Given the description of an element on the screen output the (x, y) to click on. 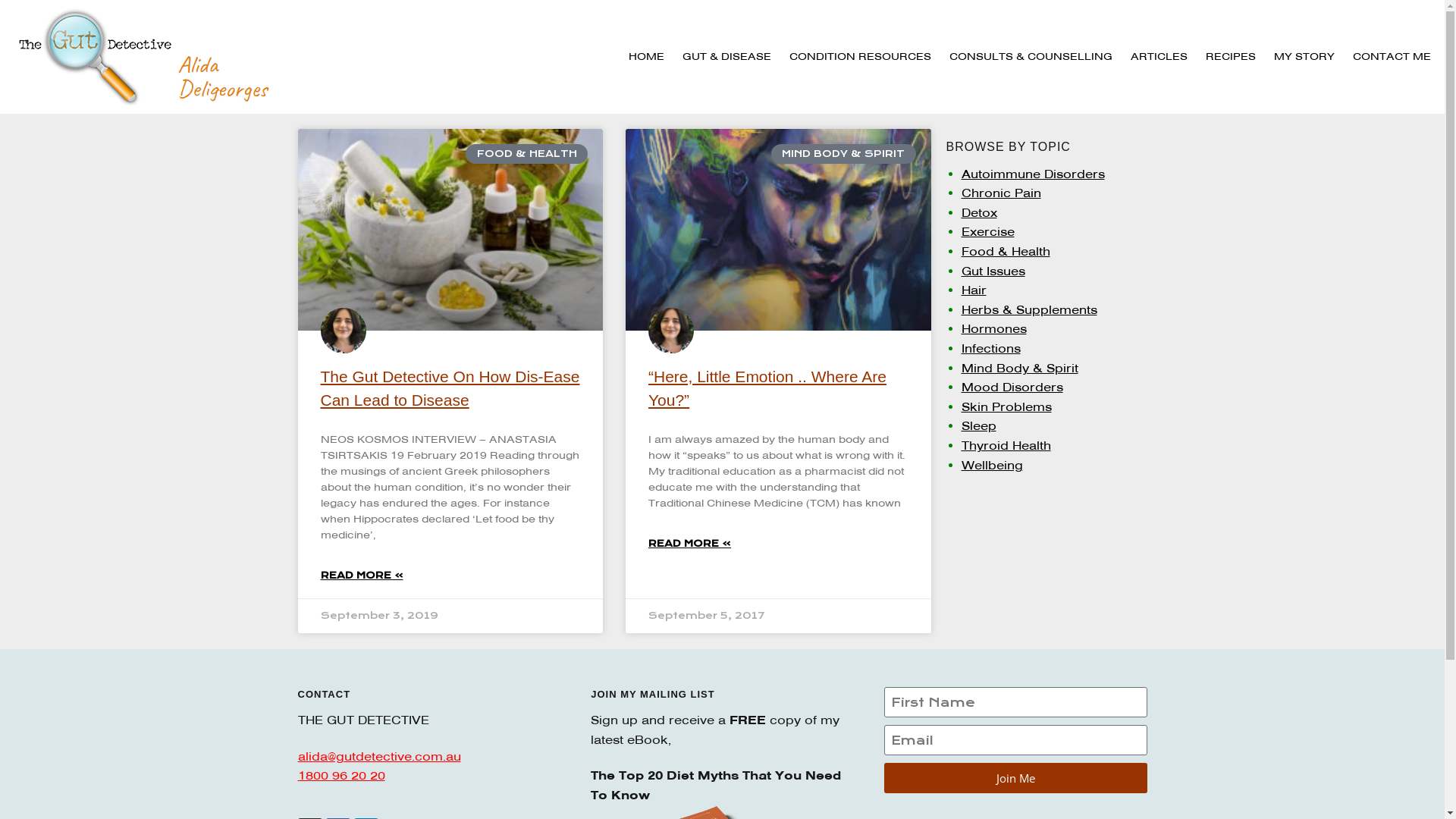
Food & Health Element type: text (1005, 251)
Join Me Element type: text (1015, 777)
CONSULTS & COUNSELLING Element type: text (1030, 56)
Wellbeing Element type: text (991, 465)
Chronic Pain Element type: text (1001, 192)
Exercise Element type: text (987, 231)
CONTACT ME Element type: text (1391, 56)
Mind Body & Spirit Element type: text (1019, 368)
HOME Element type: text (646, 56)
Gut Issues Element type: text (993, 271)
Herbs & Supplements Element type: text (1029, 309)
Mood Disorders Element type: text (1012, 387)
ARTICLES Element type: text (1158, 56)
The Gut Detective On How Dis-Ease Can Lead to Disease Element type: text (449, 388)
Hair Element type: text (973, 290)
Hormones Element type: text (993, 328)
Detox Element type: text (979, 212)
Thyroid Health Element type: text (1006, 445)
Sleep Element type: text (978, 425)
RECIPES Element type: text (1230, 56)
Skin Problems Element type: text (1006, 406)
1800 96 20 20 Element type: text (340, 775)
alida@gutdetective.com.au Element type: text (378, 756)
CONDITION RESOURCES Element type: text (860, 56)
GUT & DISEASE Element type: text (726, 56)
Infections Element type: text (990, 348)
MY STORY Element type: text (1303, 56)
Autoimmune Disorders Element type: text (1032, 174)
